Given the description of an element on the screen output the (x, y) to click on. 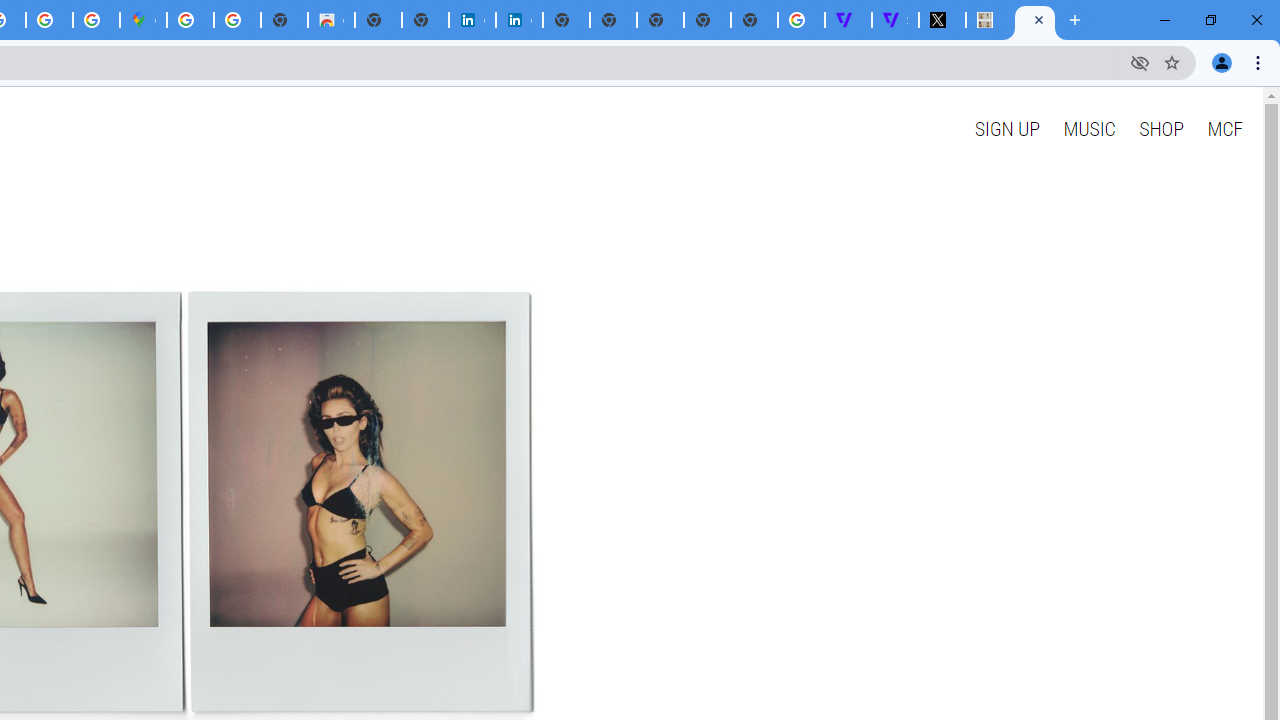
MCF (1224, 128)
MILEY CYRUS. (989, 20)
SIGN UP (1006, 128)
Chrome Web Store (331, 20)
Cookie Policy | LinkedIn (472, 20)
MUSIC (1089, 128)
SHOP (1161, 128)
Streaming - The Verge (895, 20)
Miley Cyrus (@MileyCyrus) / X (942, 20)
